Given the description of an element on the screen output the (x, y) to click on. 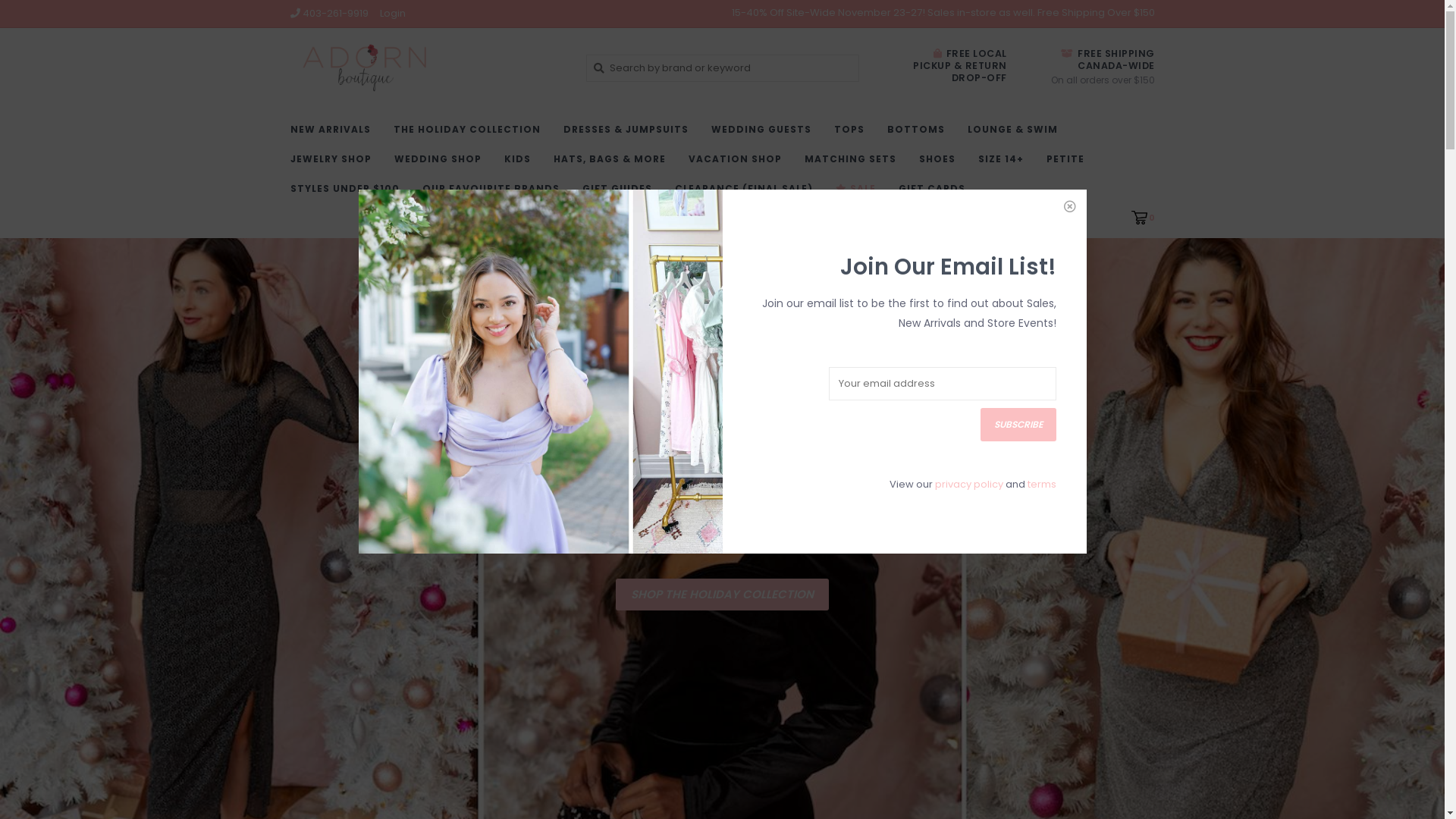
Adorn Boutique Element type: hover (425, 67)
Login Element type: text (391, 13)
WEDDING SHOP Element type: text (441, 163)
terms Element type: text (1040, 483)
VACATION SHOP Element type: text (738, 163)
THE HOLIDAY COLLECTION Element type: text (469, 133)
WEDDING GUESTS Element type: text (765, 133)
TOPS Element type: text (853, 133)
JEWELRY SHOP Element type: text (333, 163)
0 Element type: text (1142, 216)
OUR FAVOURITE BRANDS Element type: text (493, 192)
KIDS Element type: text (520, 163)
BOTTOMS Element type: text (919, 133)
STYLES UNDER $100 Element type: text (347, 192)
LOUNGE & SWIM Element type: text (1016, 133)
DRESSES & JUMPSUITS Element type: text (628, 133)
HATS, BAGS & MORE Element type: text (613, 163)
CLEARANCE (FINAL SALE) Element type: text (747, 192)
PETITE Element type: text (1069, 163)
SHOP THE HOLIDAY COLLECTION Element type: text (721, 594)
GIFT GUIDES Element type: text (620, 192)
SUBSCRIBE Element type: text (1017, 424)
SIZE 14+ Element type: text (1004, 163)
SALE Element type: text (859, 192)
403-261-9919 Element type: text (328, 13)
privacy policy Element type: text (968, 483)
MATCHING SETS Element type: text (853, 163)
NEW ARRIVALS Element type: text (333, 133)
SHOES Element type: text (941, 163)
GIFT CARDS Element type: text (934, 192)
